Given the description of an element on the screen output the (x, y) to click on. 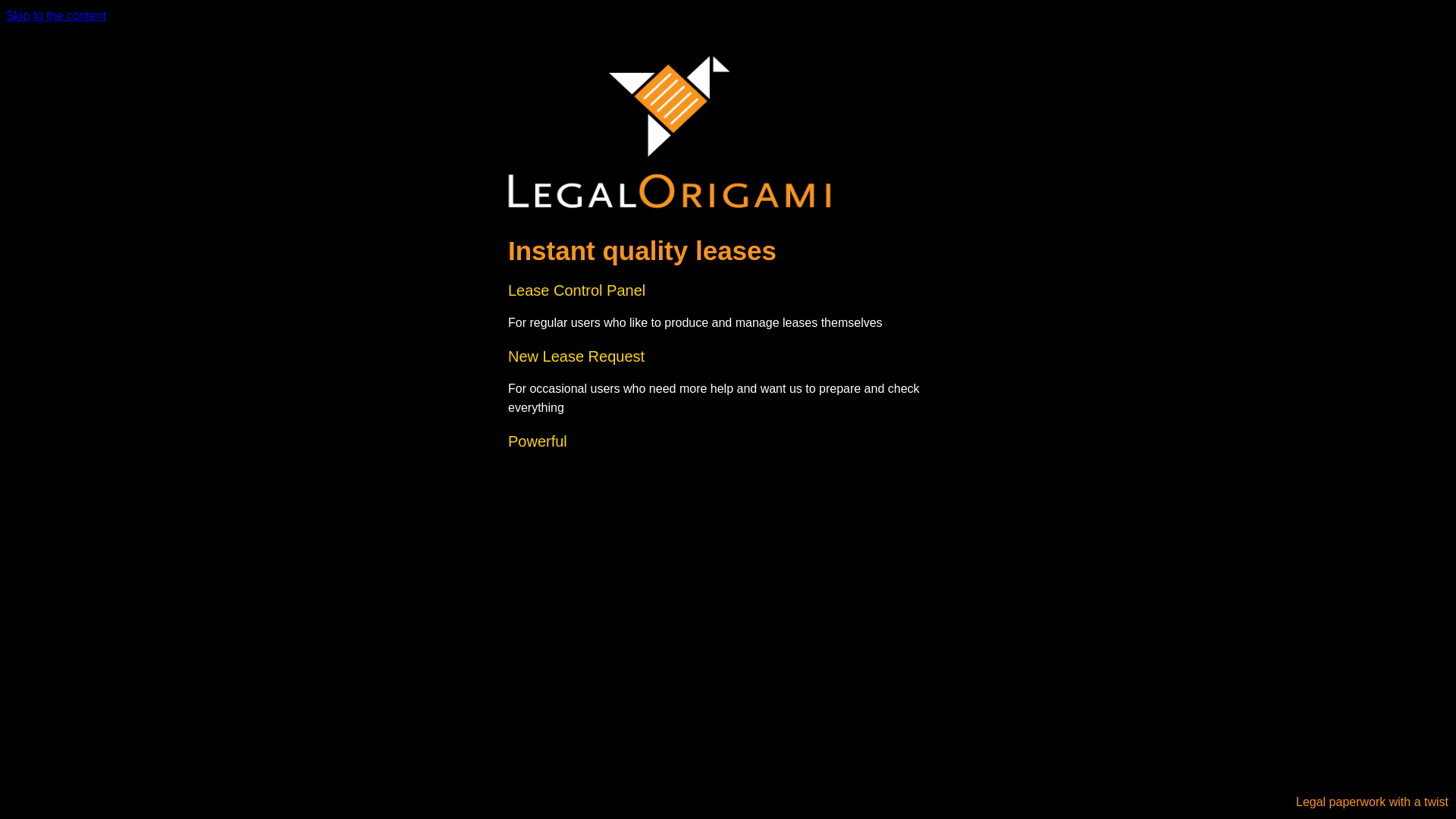
Powerful Element type: text (537, 441)
New Lease Request Element type: text (576, 356)
Lease Control Panel Element type: text (576, 290)
Skip to the content Element type: text (56, 15)
